Given the description of an element on the screen output the (x, y) to click on. 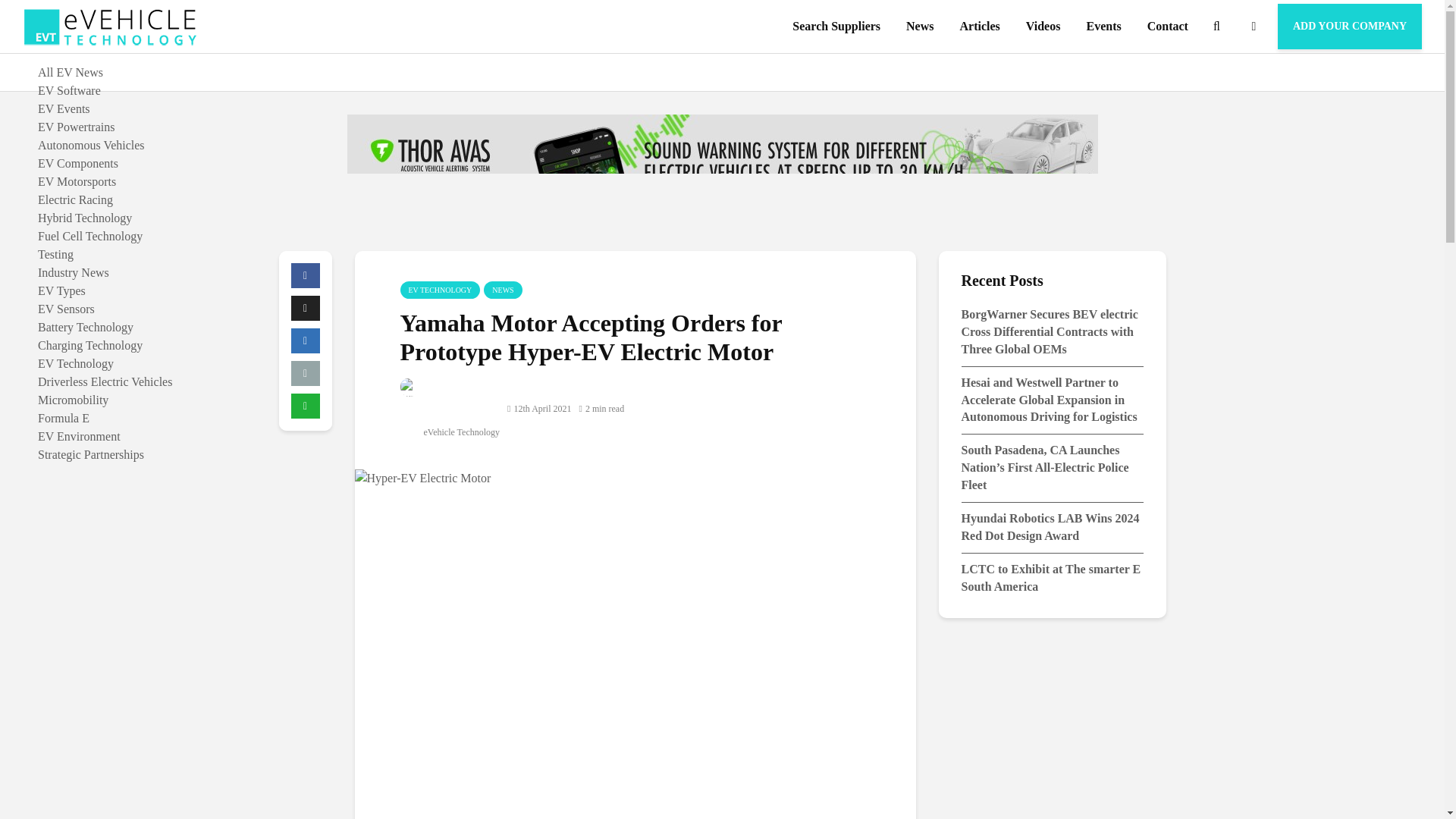
EV Events (63, 108)
News (919, 26)
Fuel Cell Technology (89, 236)
Search Suppliers (835, 26)
EV Motorsports (76, 181)
Charging Technology (89, 345)
EV Environment (78, 436)
Hybrid Technology (84, 217)
EV Powertrains (76, 126)
Industry News (73, 272)
Battery Technology (85, 327)
EV Sensors (65, 308)
All EV News (70, 72)
EV Types (61, 290)
acoustic vehicle alerting system (722, 171)
